Given the description of an element on the screen output the (x, y) to click on. 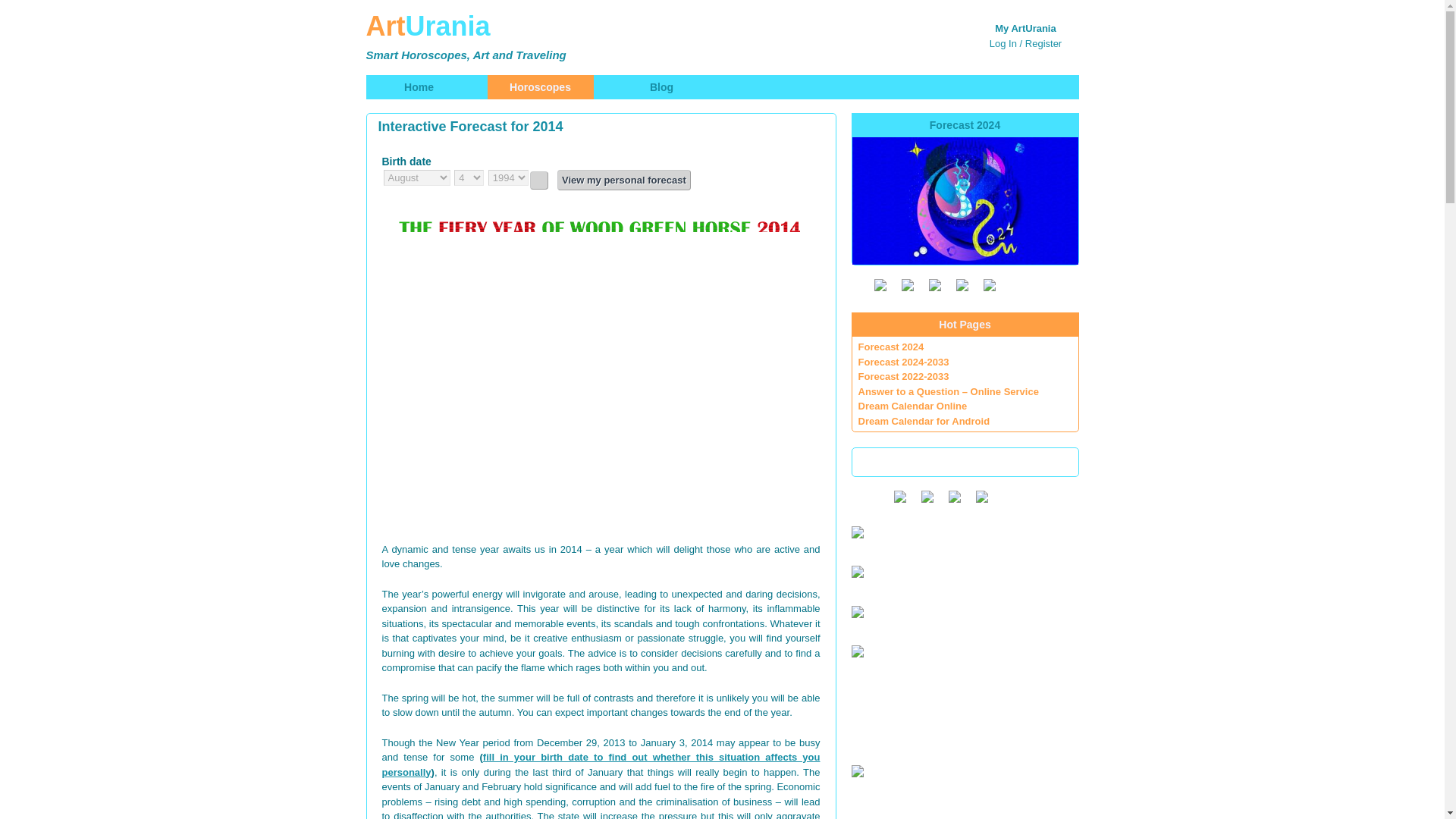
ArtUrania on YouTube (906, 285)
Dream Calendar (856, 770)
ArtUrania on Pinterest (988, 285)
ArtUrania - Smart Horoscopes, Art and Traveling (509, 34)
ArtUrania on Facebook (934, 285)
Forecast 2024-2033 (904, 361)
Forecast 2024: Your Alchemic Odyssey (964, 200)
View my personal forecast (623, 179)
Forecast 2024 (891, 346)
Our apps on BlackBerry World (953, 496)
Log In (1003, 43)
Home (418, 87)
